Given the description of an element on the screen output the (x, y) to click on. 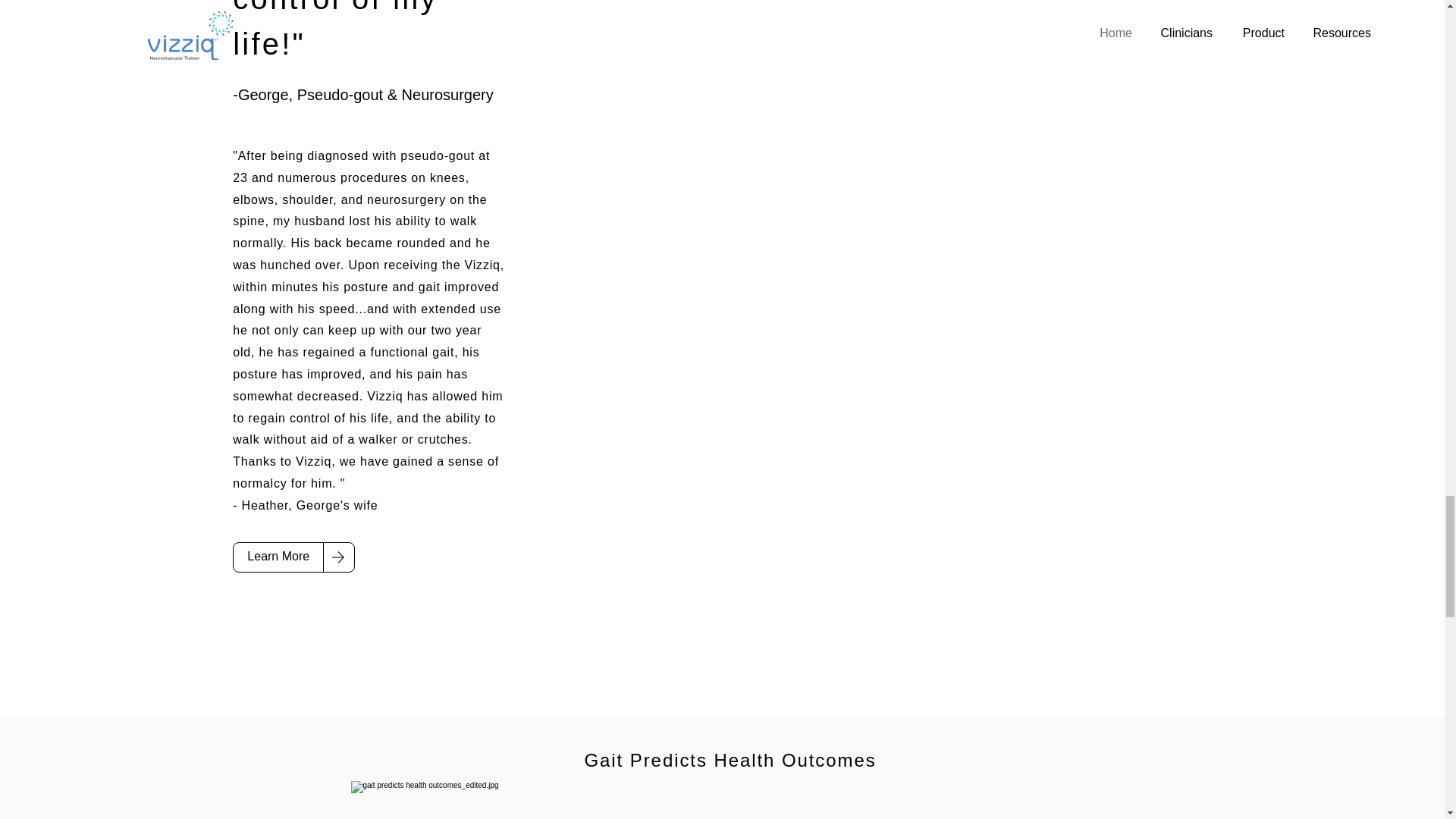
Learn More (277, 557)
